Given the description of an element on the screen output the (x, y) to click on. 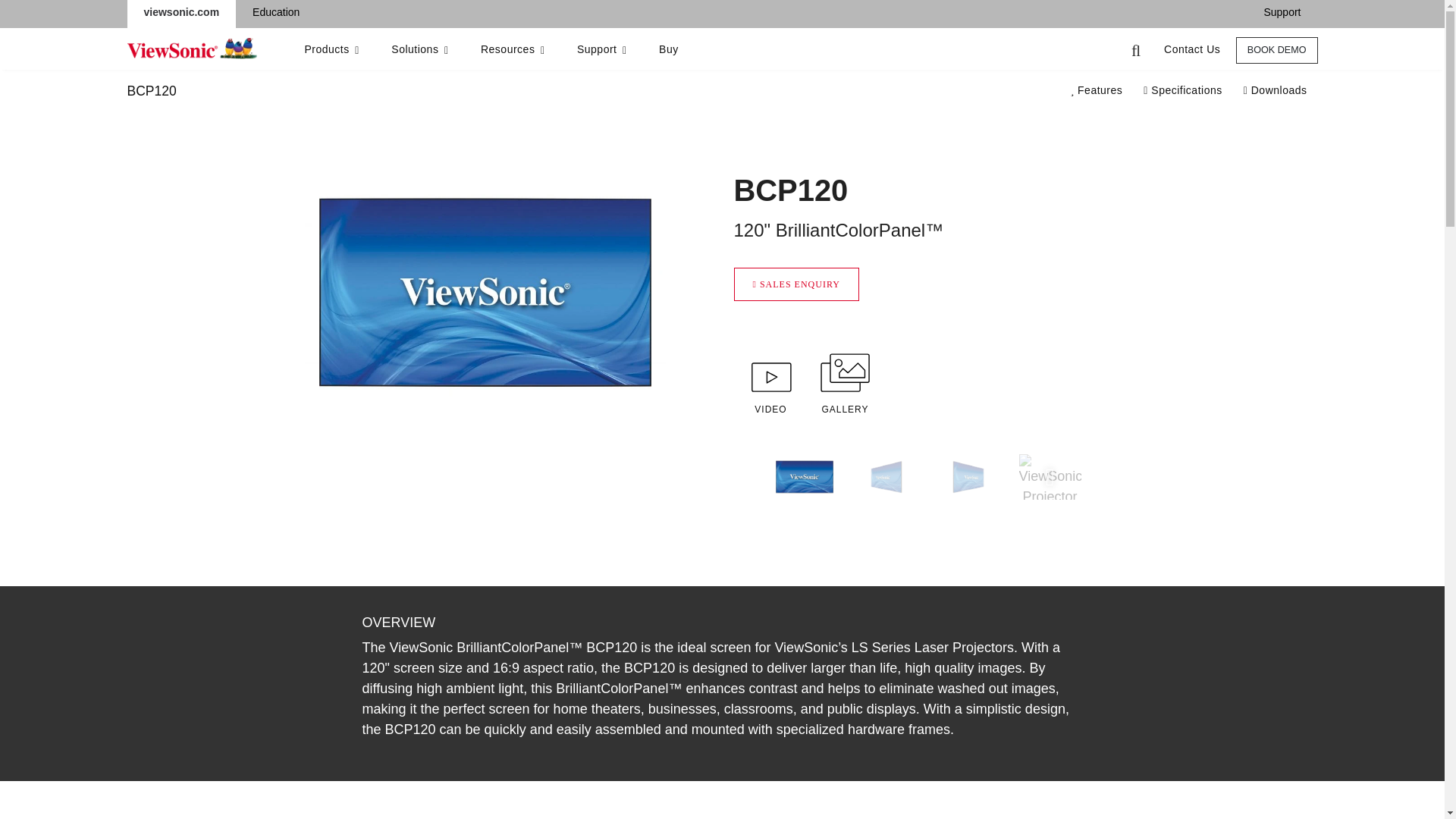
Features (1096, 90)
Products (331, 49)
Downloads (1275, 90)
BCP120 (152, 90)
Education (275, 12)
Specifications (1181, 90)
viewsonic.com (722, 90)
Support (181, 12)
